Given the description of an element on the screen output the (x, y) to click on. 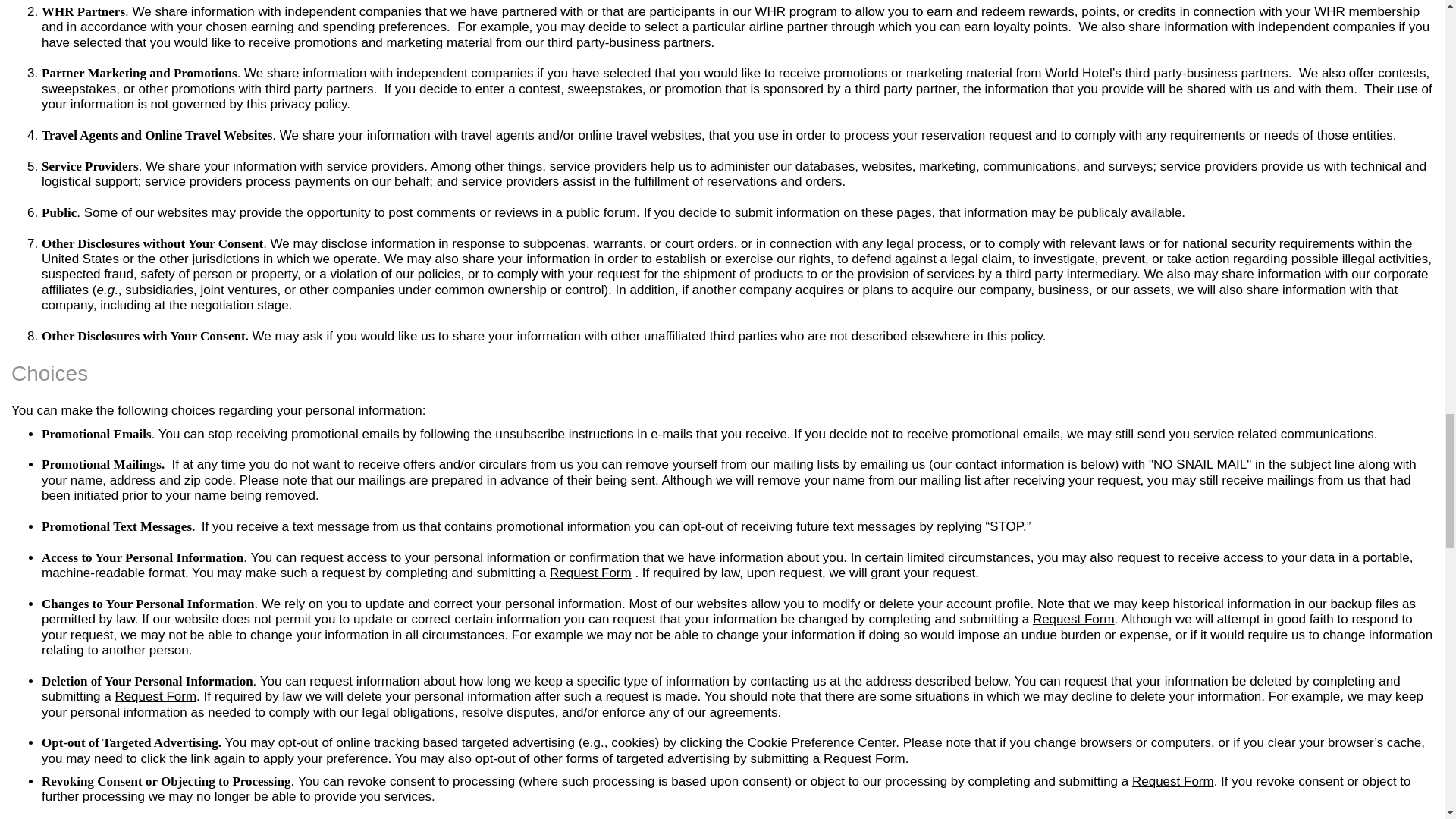
Request Form (590, 572)
Request Form (155, 696)
Request Form (155, 696)
Request Form (1173, 780)
Cookie Preference Center (822, 742)
Request Form (864, 758)
Request Form (590, 572)
Cookie Preference Center (822, 742)
Request Form (1173, 780)
Request Form (1073, 618)
